Given the description of an element on the screen output the (x, y) to click on. 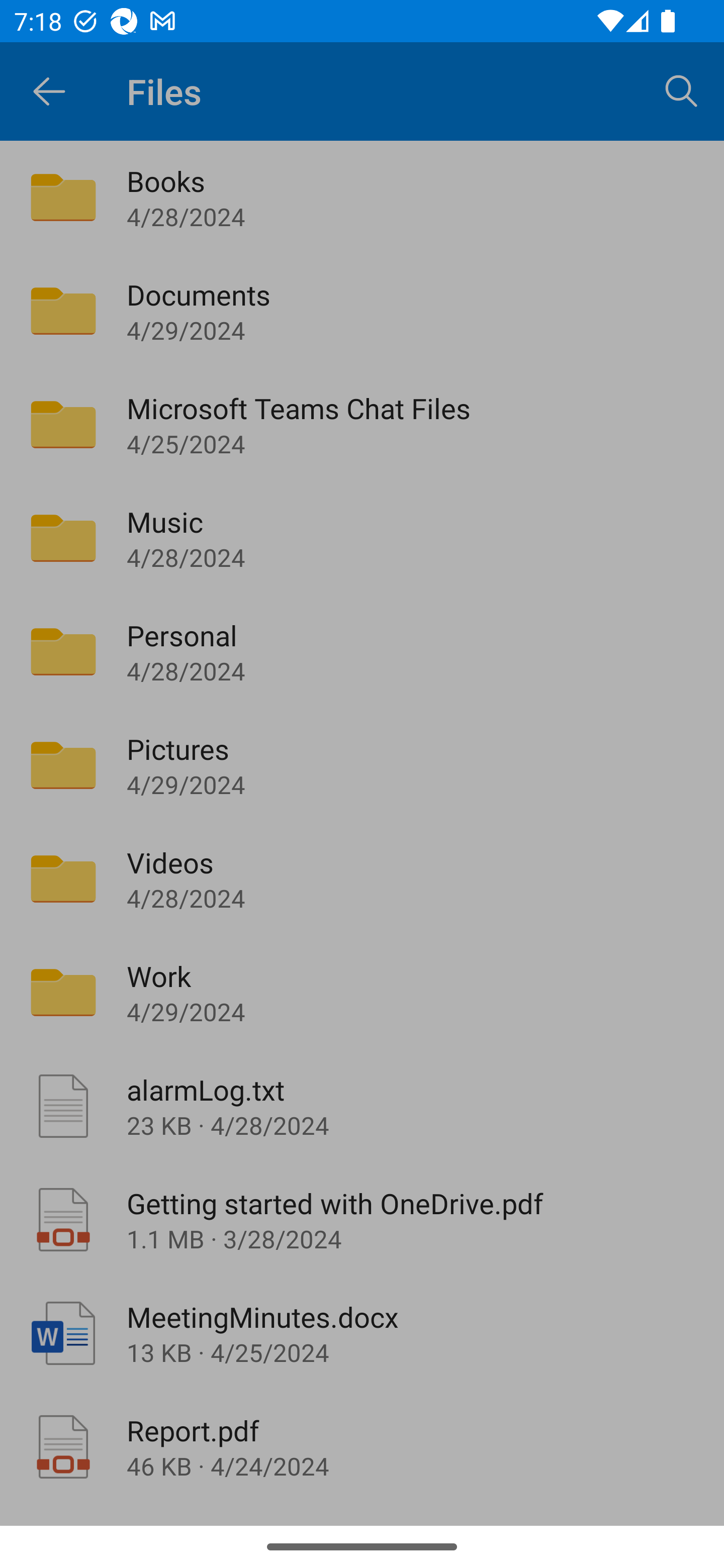
Navigate up (49, 91)
Search (681, 90)
Books 4/28/2024 (362, 197)
Documents 4/29/2024 (362, 311)
Microsoft Teams Chat Files 4/25/2024 (362, 424)
Music 4/28/2024 (362, 537)
Personal 4/28/2024 (362, 651)
Pictures 4/29/2024 (362, 764)
Videos 4/28/2024 (362, 878)
Work 4/29/2024 (362, 992)
alarmLog.txt 23 KB · 4/28/2024 (362, 1105)
MeetingMinutes.docx 13 KB · 4/25/2024 (362, 1333)
Report.pdf 46 KB · 4/24/2024 (362, 1446)
